Given the description of an element on the screen output the (x, y) to click on. 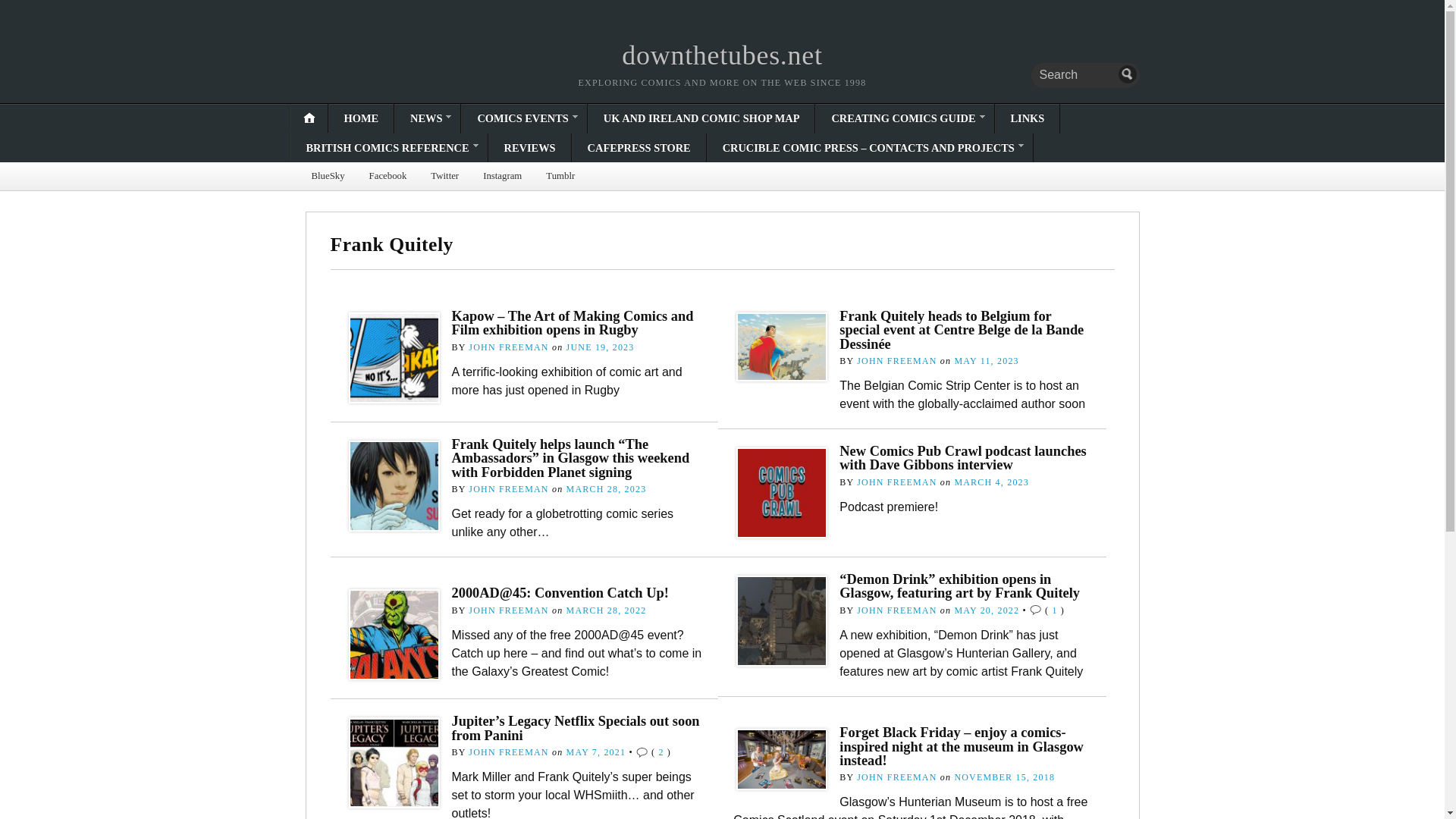
downthetubes.net (721, 55)
6:25 am (991, 481)
COMICS EVENTS (523, 118)
9:45 am (985, 360)
Home (721, 55)
CREATING COMICS GUIDE (903, 118)
View all posts by John Freeman (896, 481)
UK AND IRELAND COMIC SHOP MAP (701, 118)
LINKS (1026, 118)
HOME (361, 118)
View all posts by John Freeman (508, 347)
View all posts by John Freeman (508, 489)
10:32 am (600, 347)
NEWS (427, 118)
8:07 am (606, 489)
